Given the description of an element on the screen output the (x, y) to click on. 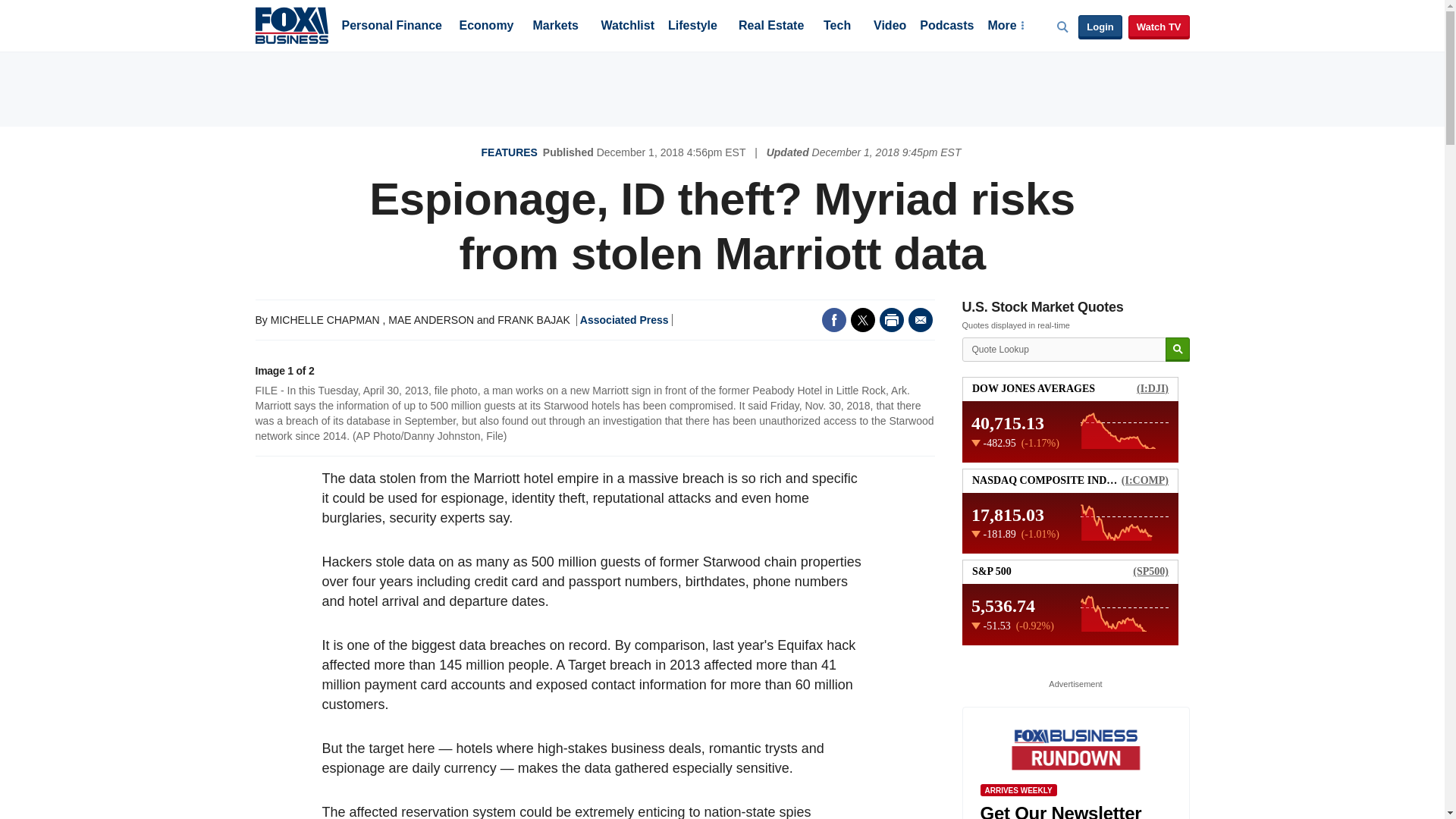
Tech (837, 27)
Fox Business (290, 24)
Personal Finance (391, 27)
Search (1176, 349)
Economy (486, 27)
Lifestyle (692, 27)
Markets (555, 27)
Real Estate (770, 27)
Watchlist (626, 27)
Login (1099, 27)
Podcasts (947, 27)
Watch TV (1158, 27)
Video (889, 27)
Search (1176, 349)
More (1005, 27)
